Given the description of an element on the screen output the (x, y) to click on. 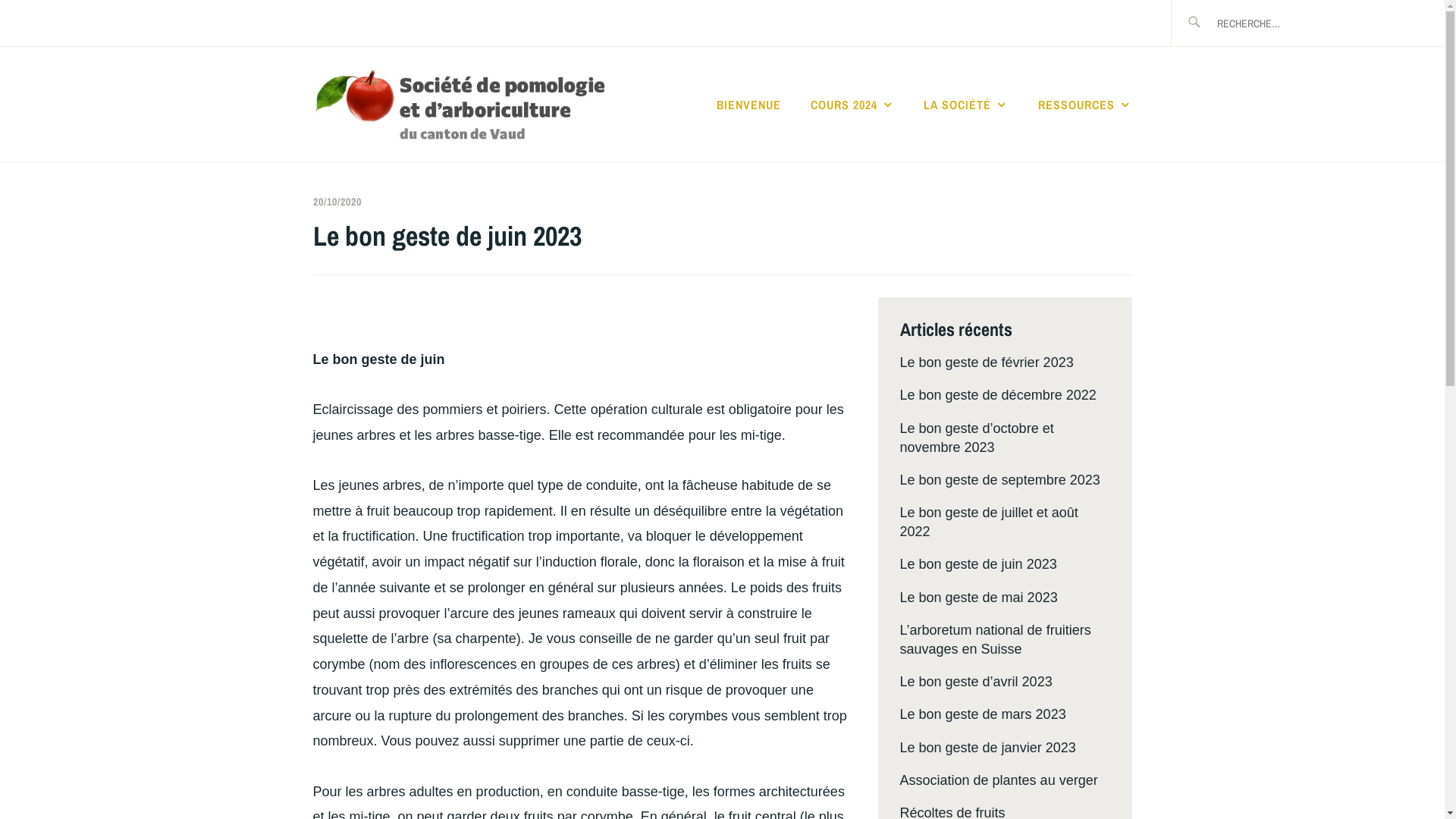
Le bon geste de mars 2023 Element type: text (982, 713)
20/10/2020 Element type: text (336, 201)
Le bon geste de mai 2023 Element type: text (978, 597)
Le bon geste de juin 2023 Element type: text (977, 563)
COURS 2024 Element type: text (852, 104)
Rechercher Element type: text (65, 21)
Le bon geste de janvier 2023 Element type: text (987, 747)
Association de plantes au verger Element type: text (998, 779)
Le bon geste de septembre 2023 Element type: text (999, 479)
BIENVENUE Element type: text (748, 104)
RESSOURCES Element type: text (1084, 104)
